Given the description of an element on the screen output the (x, y) to click on. 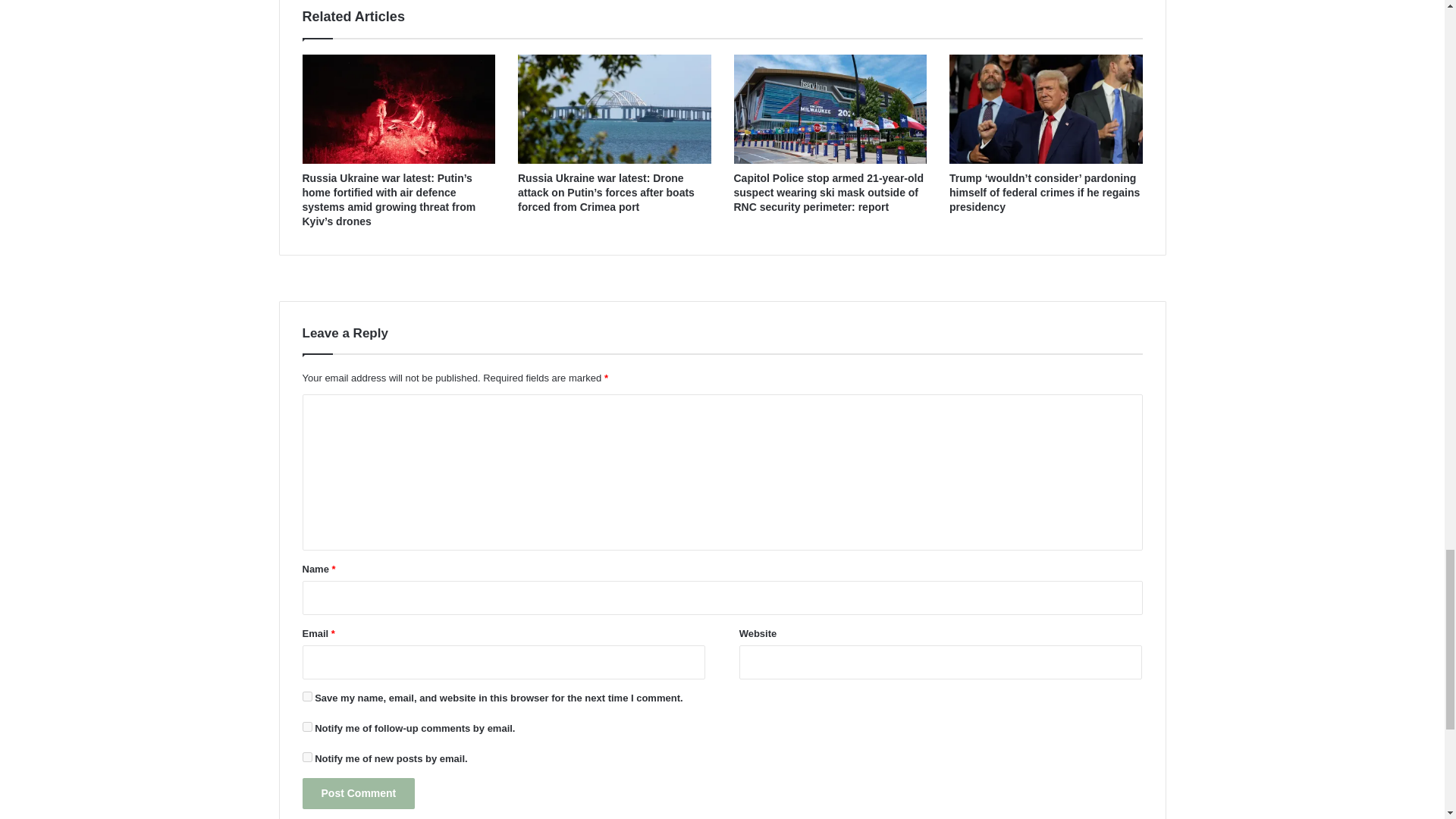
subscribe (306, 757)
Post Comment (357, 793)
subscribe (306, 726)
yes (306, 696)
